Given the description of an element on the screen output the (x, y) to click on. 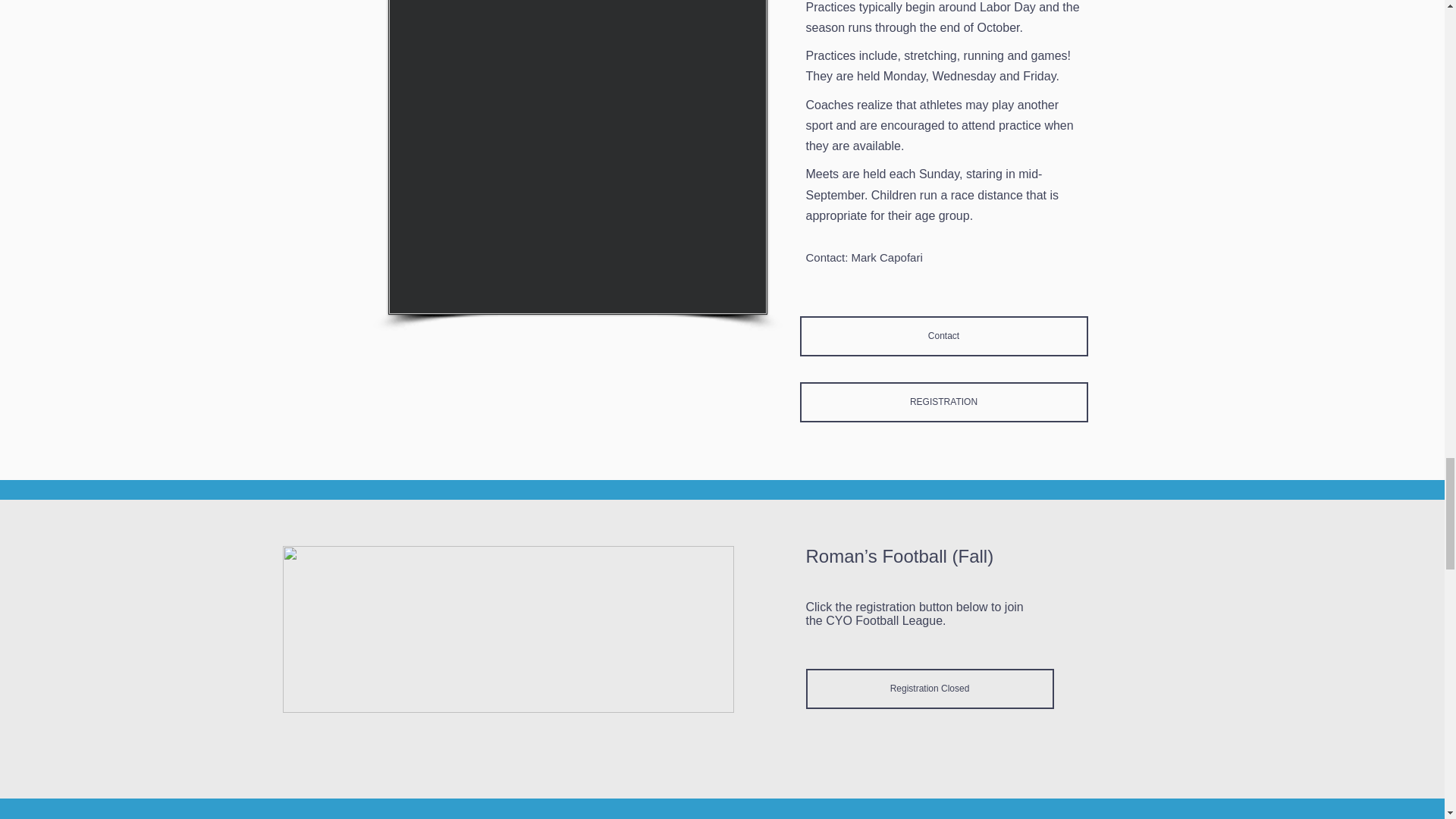
REGISTRATION (943, 402)
Contact (943, 335)
Registration Closed (928, 689)
